Given the description of an element on the screen output the (x, y) to click on. 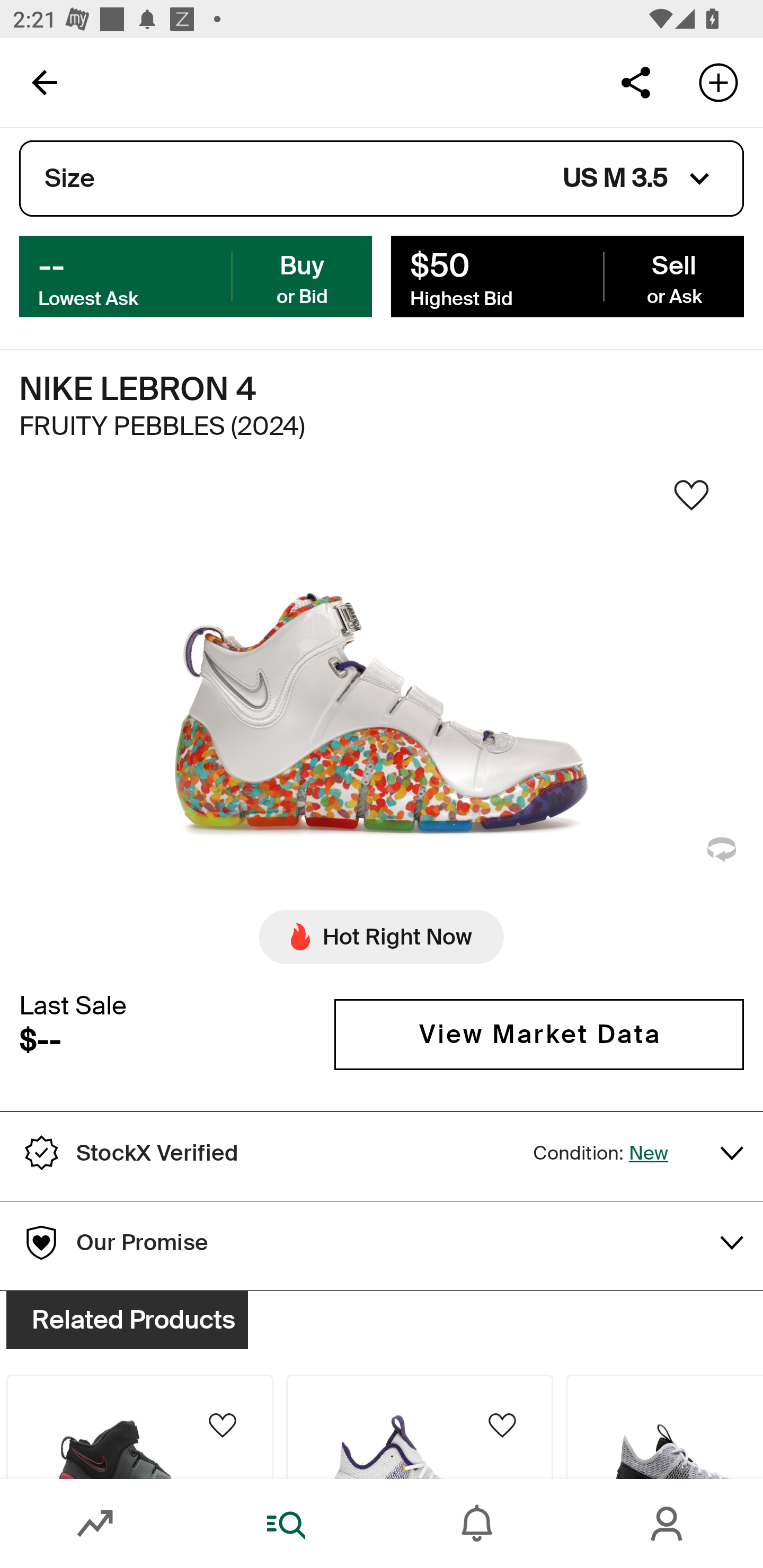
Share (635, 81)
Add (718, 81)
Size US M 3.5 (381, 178)
-- Buy Lowest Ask or Bid (195, 275)
$50 Sell Highest Bid or Ask (566, 275)
Sneaker Image (381, 699)
View Market Data (538, 1034)
Market (95, 1523)
Inbox (476, 1523)
Account (667, 1523)
